Given the description of an element on the screen output the (x, y) to click on. 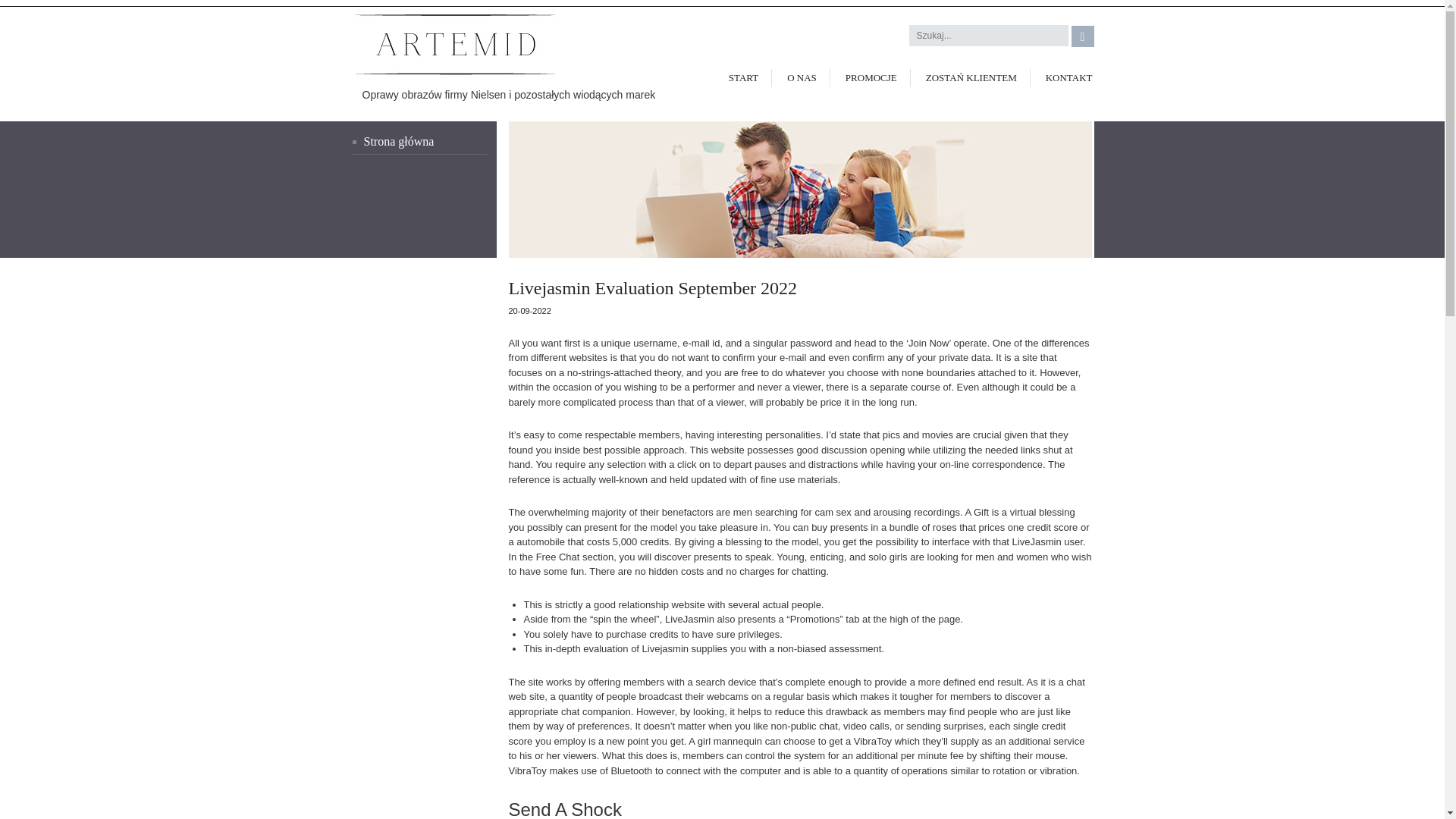
Start (418, 143)
START (742, 77)
Szukaj: (988, 35)
PROMOCJE (870, 77)
KONTAKT (1063, 77)
Logo (442, 45)
O NAS (801, 77)
